Given the description of an element on the screen output the (x, y) to click on. 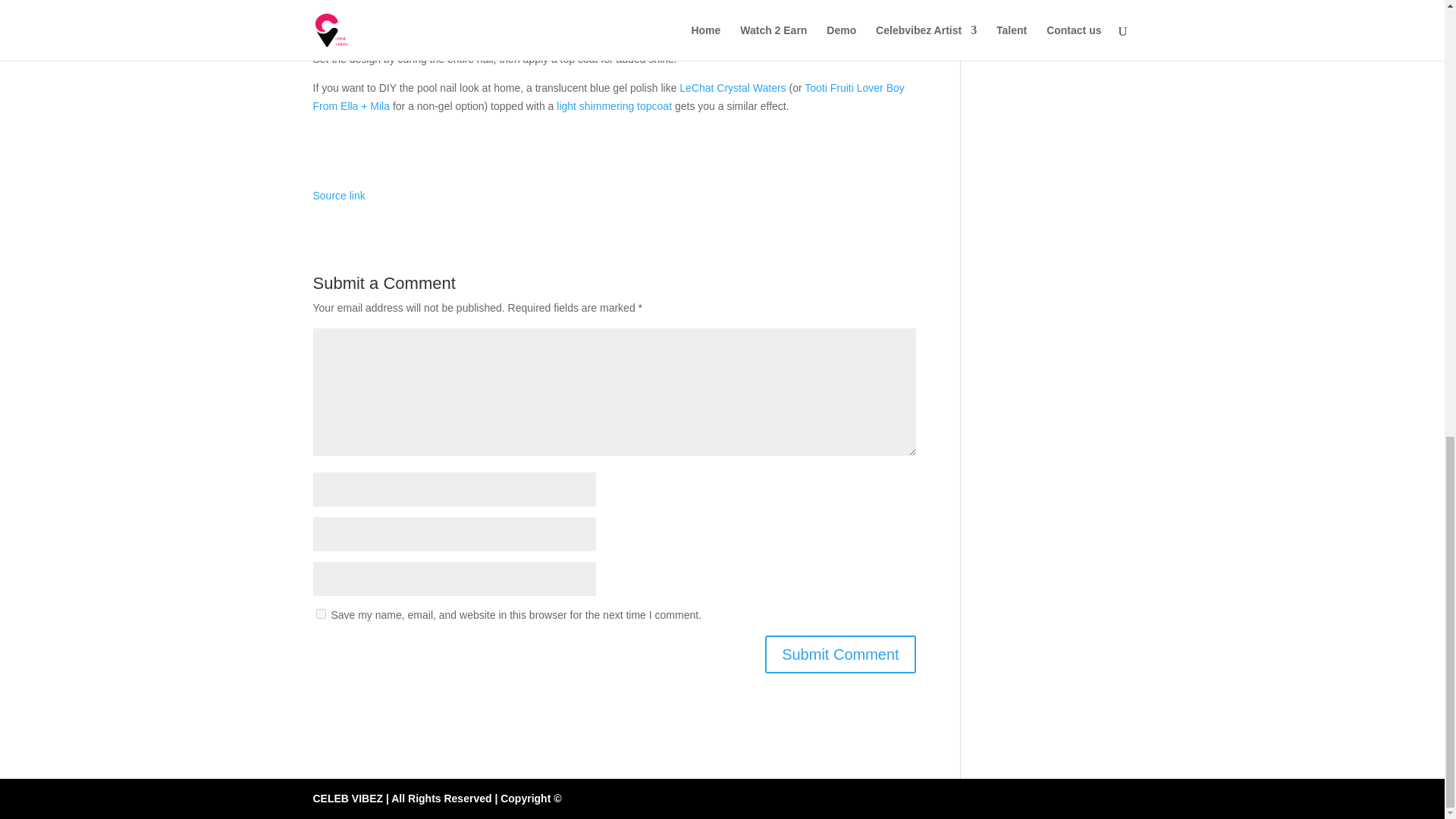
Submit Comment (840, 654)
LeChat Crystal Waters (732, 87)
Submit Comment (840, 654)
Source link (339, 195)
light shimmering topcoat (613, 105)
yes (319, 614)
